Given the description of an element on the screen output the (x, y) to click on. 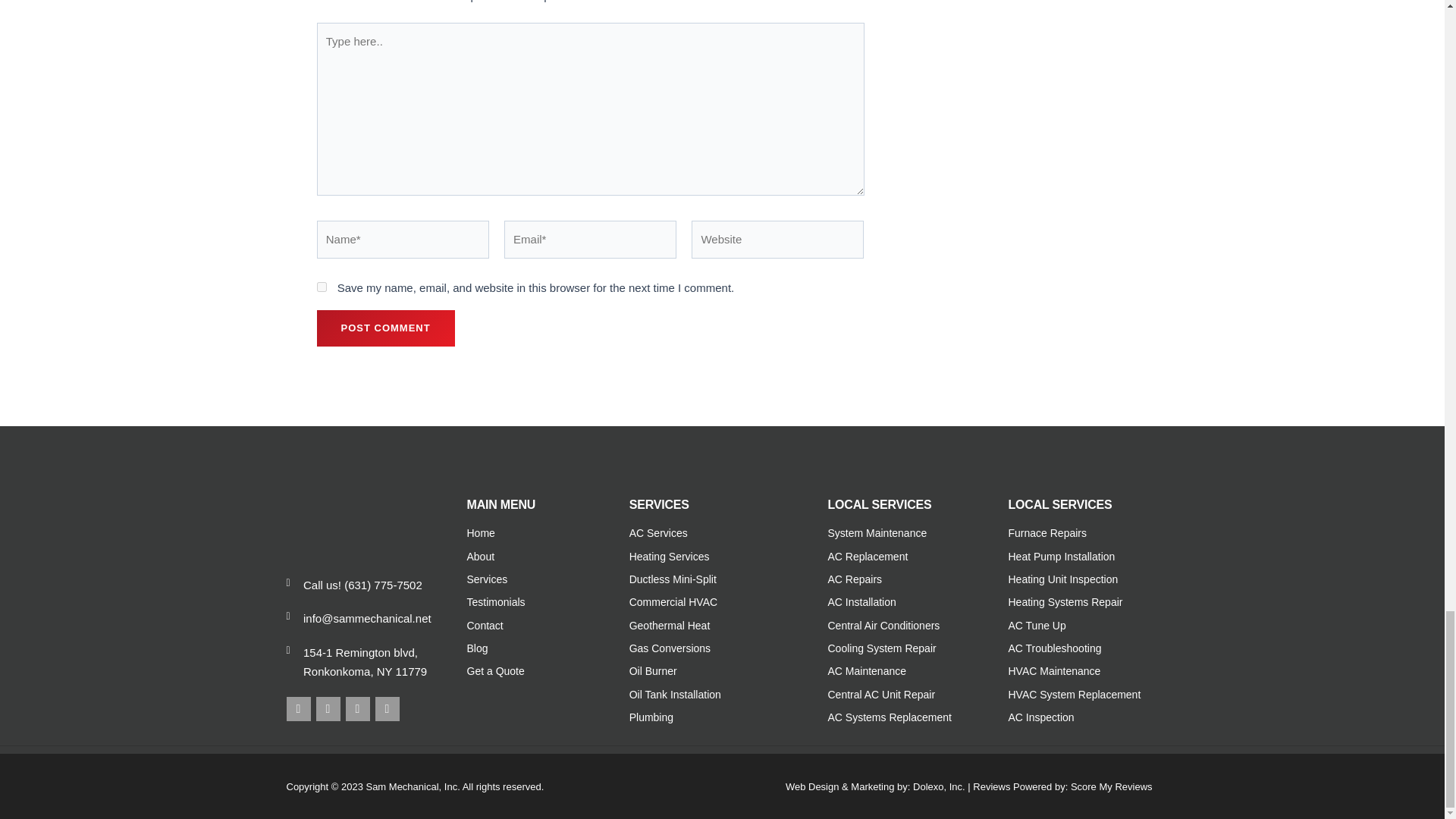
Post Comment (385, 328)
yes (321, 286)
